Given the description of an element on the screen output the (x, y) to click on. 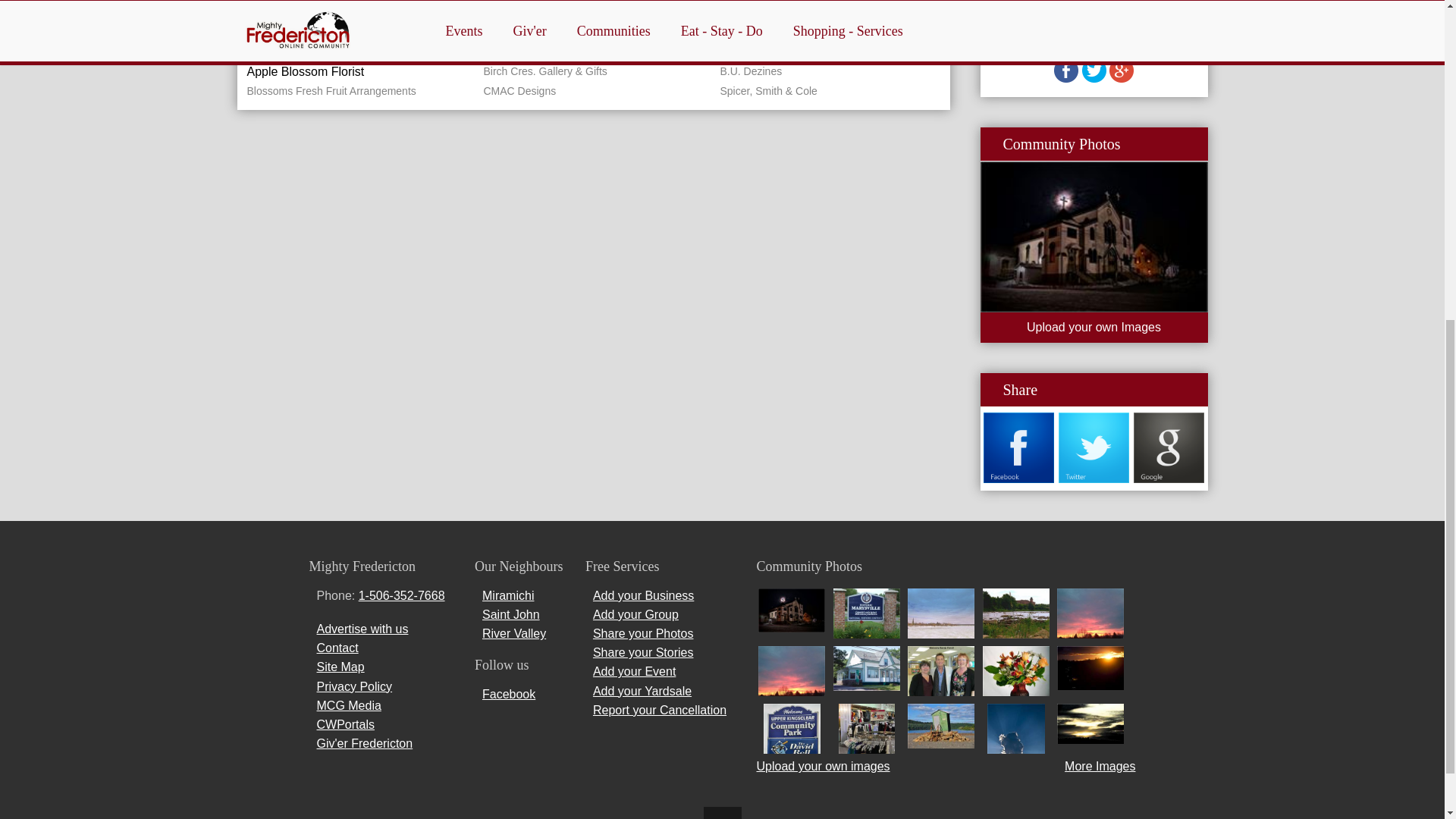
Community Photos (1061, 143)
Tweet (1093, 78)
January Moon 2018 by Yves Pinet, Photographer (1093, 236)
Share on Facebook (1066, 78)
